Given the description of an element on the screen output the (x, y) to click on. 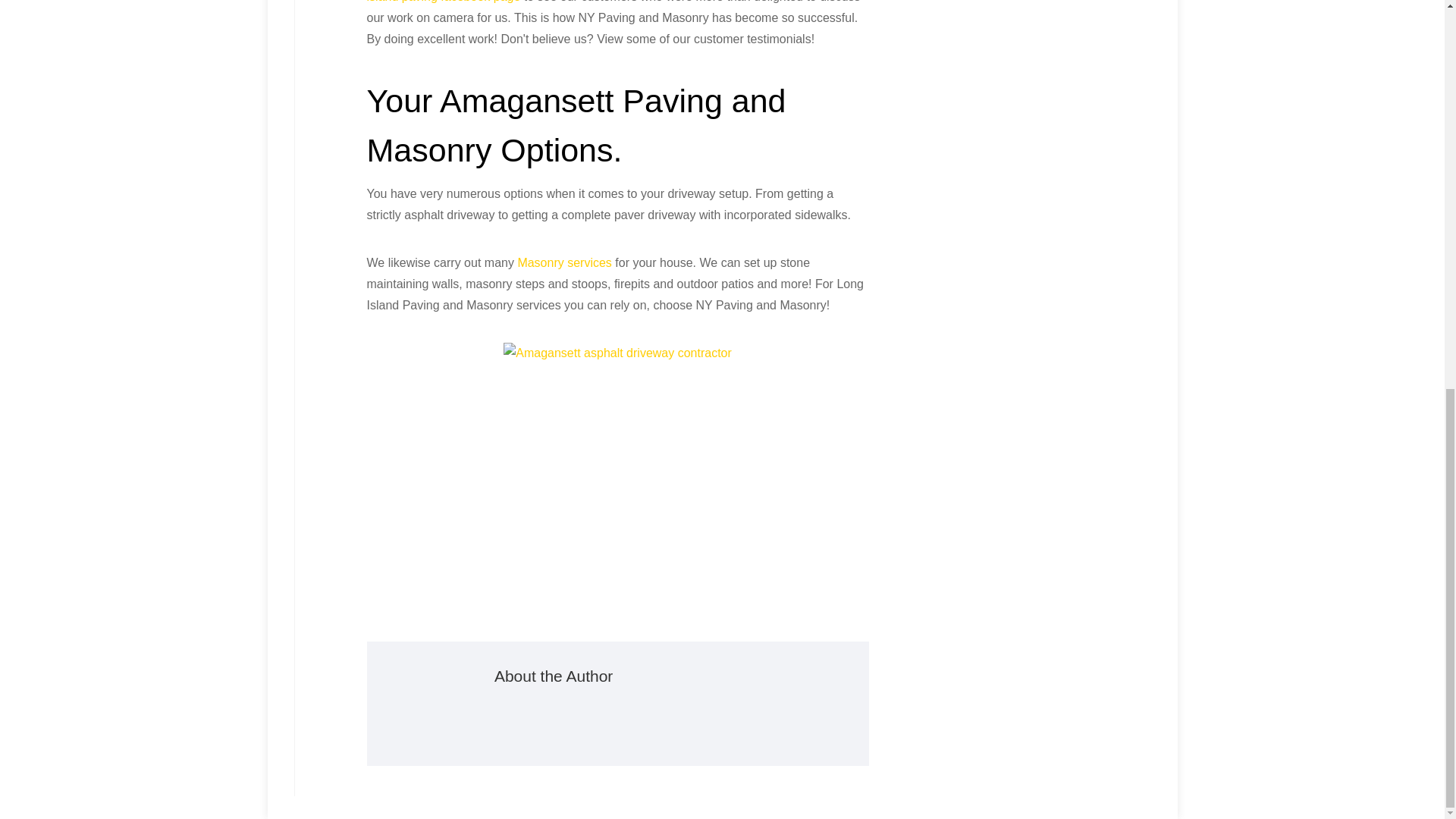
YouTube video player (617, 482)
